Given the description of an element on the screen output the (x, y) to click on. 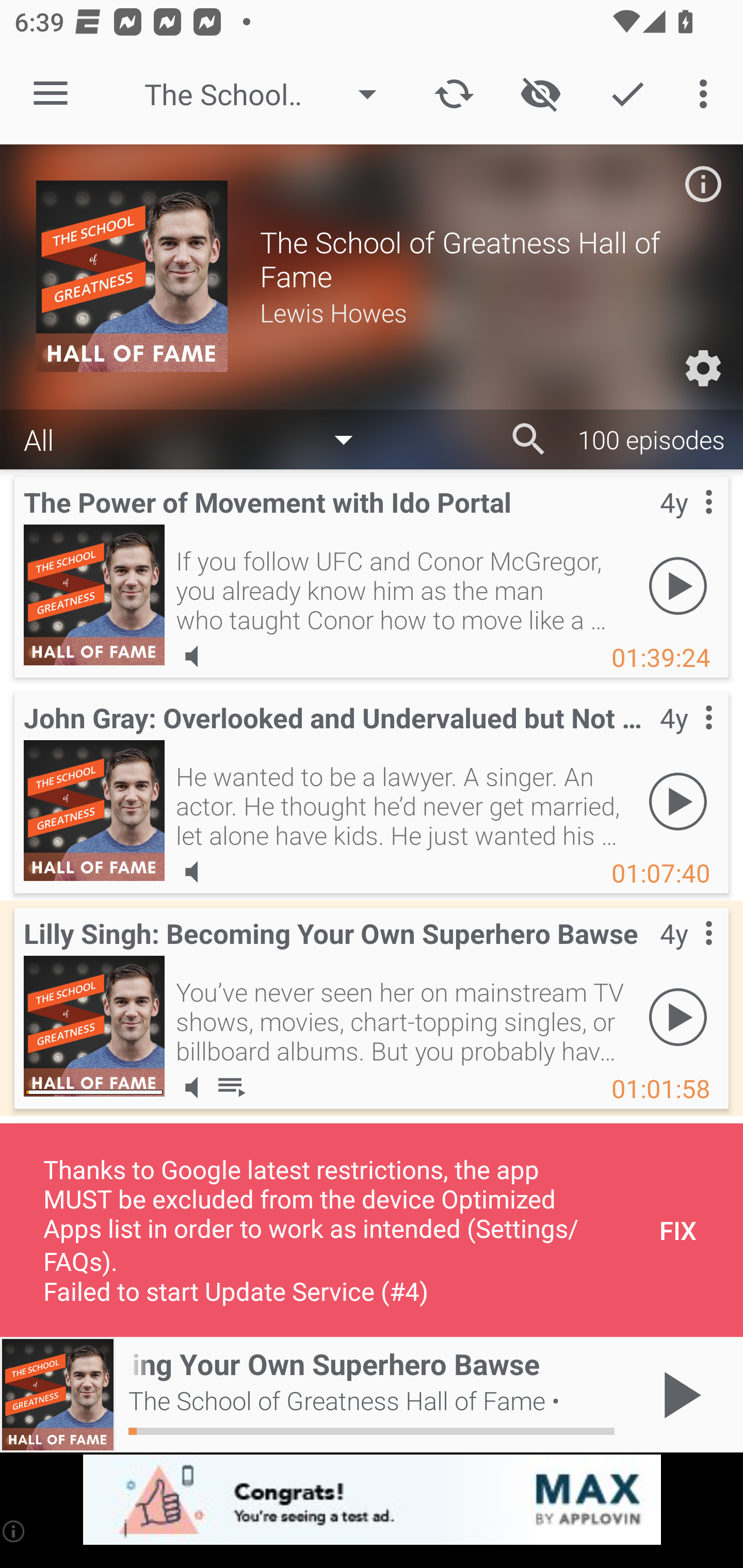
Open navigation sidebar (50, 93)
Update (453, 93)
Show / Hide played content (540, 93)
Action Mode (626, 93)
More options (706, 93)
The School of Greatness Hall of Fame (270, 94)
Podcast description (703, 184)
Lewis Howes (483, 311)
Custom Settings (703, 368)
Search (528, 439)
All (197, 438)
Contextual menu (685, 522)
The Power of Movement with Ido Portal (93, 594)
Play (677, 585)
Contextual menu (685, 738)
Play (677, 801)
Contextual menu (685, 954)
Lilly Singh: Becoming Your Own Superhero Bawse (93, 1026)
Play (677, 1016)
FIX (677, 1229)
Play / Pause (677, 1394)
app-monetization (371, 1500)
(i) (14, 1531)
